Given the description of an element on the screen output the (x, y) to click on. 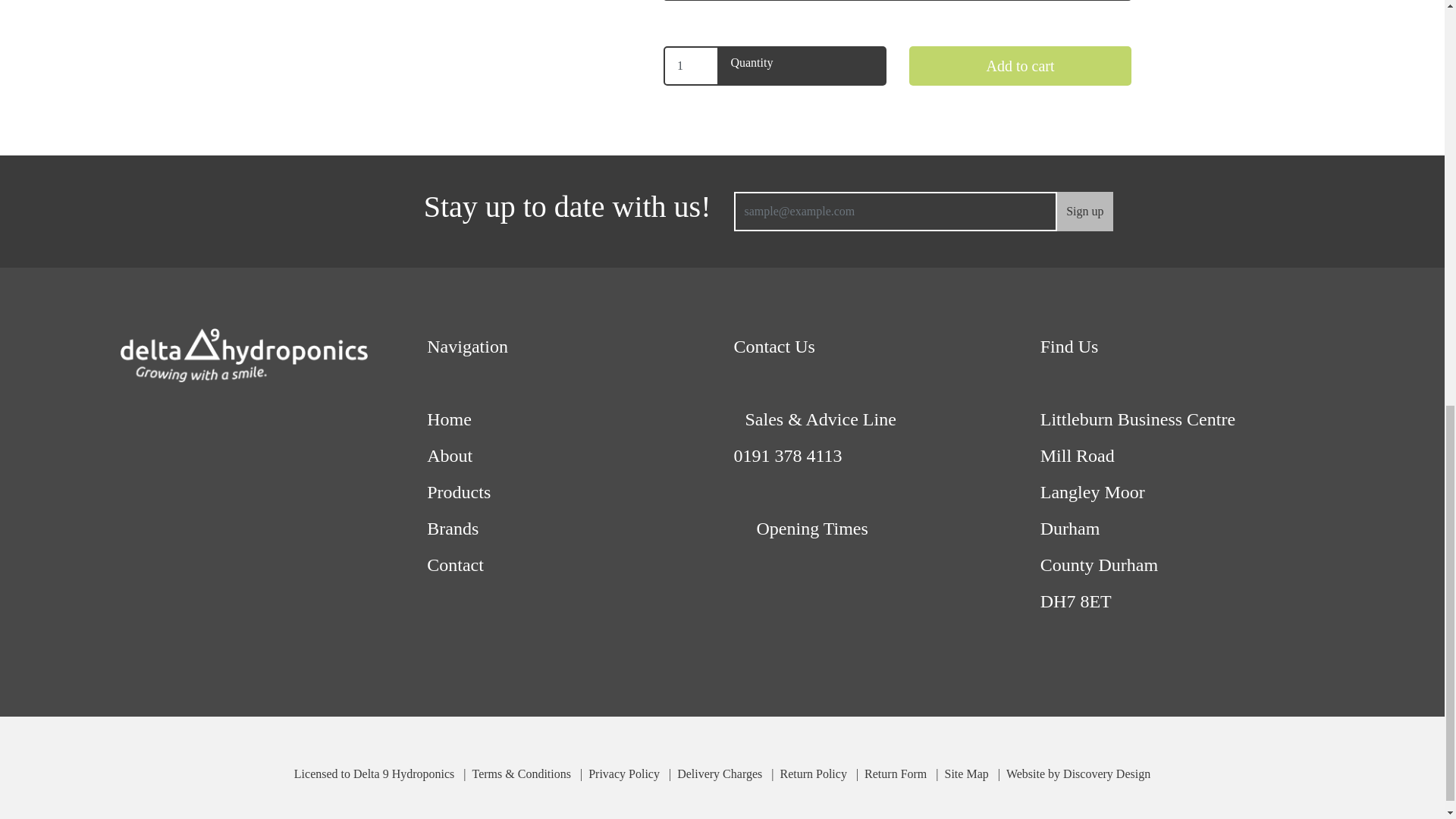
Add to cart (1020, 65)
1 (691, 65)
